Given the description of an element on the screen output the (x, y) to click on. 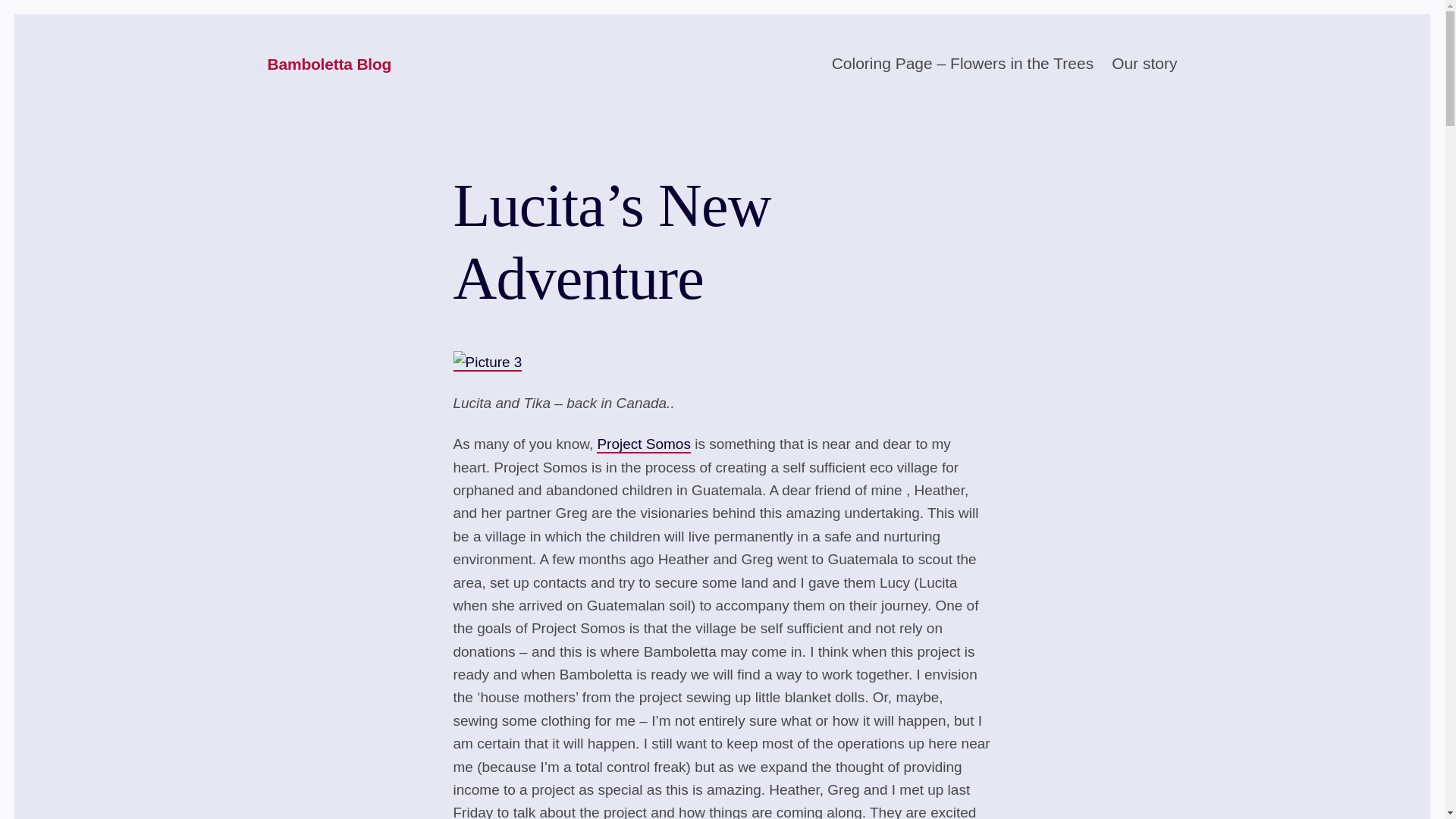
Bamboletta Blog (328, 64)
Picture 3 (487, 362)
Project Somos (643, 444)
Our story (1144, 63)
